Given the description of an element on the screen output the (x, y) to click on. 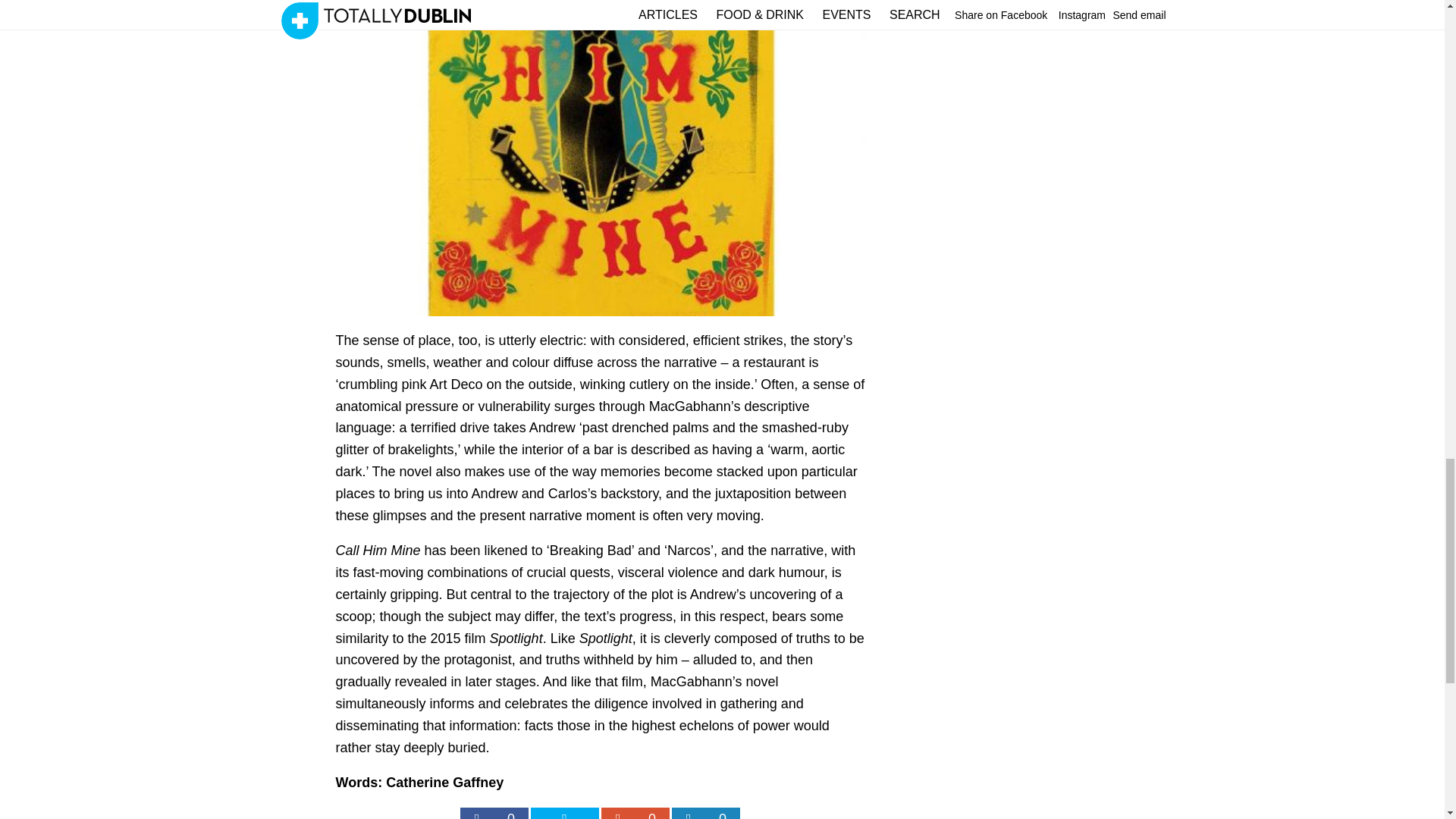
0 (493, 813)
0 (705, 813)
0 (633, 813)
